Given the description of an element on the screen output the (x, y) to click on. 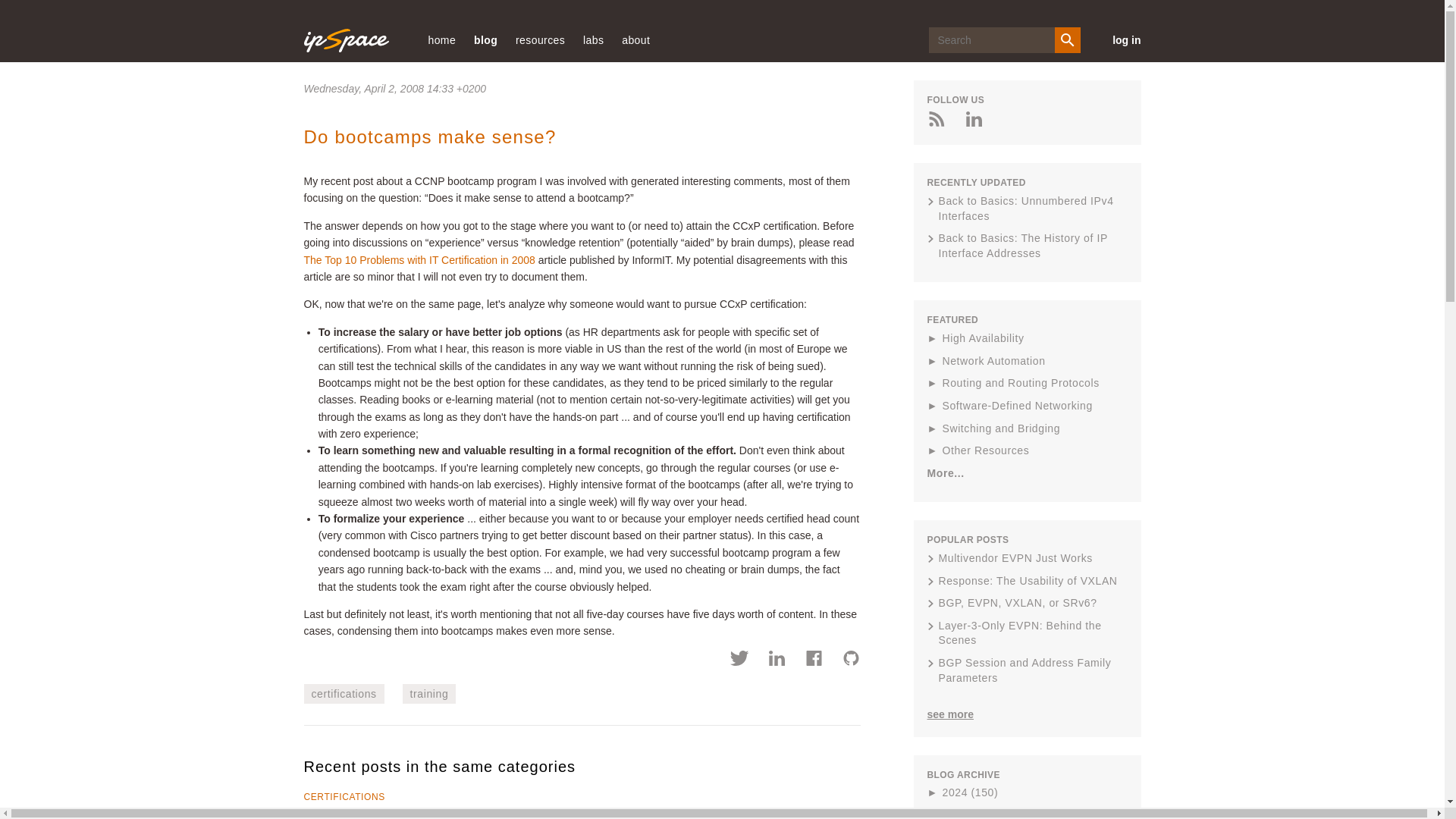
home (441, 39)
Share to Twitter (739, 660)
labs (593, 39)
GitHub Source (850, 660)
resources (539, 39)
training (430, 693)
certifications (343, 693)
log in (1118, 39)
Do bootcamps make sense? (429, 136)
blog (485, 39)
